Given the description of an element on the screen output the (x, y) to click on. 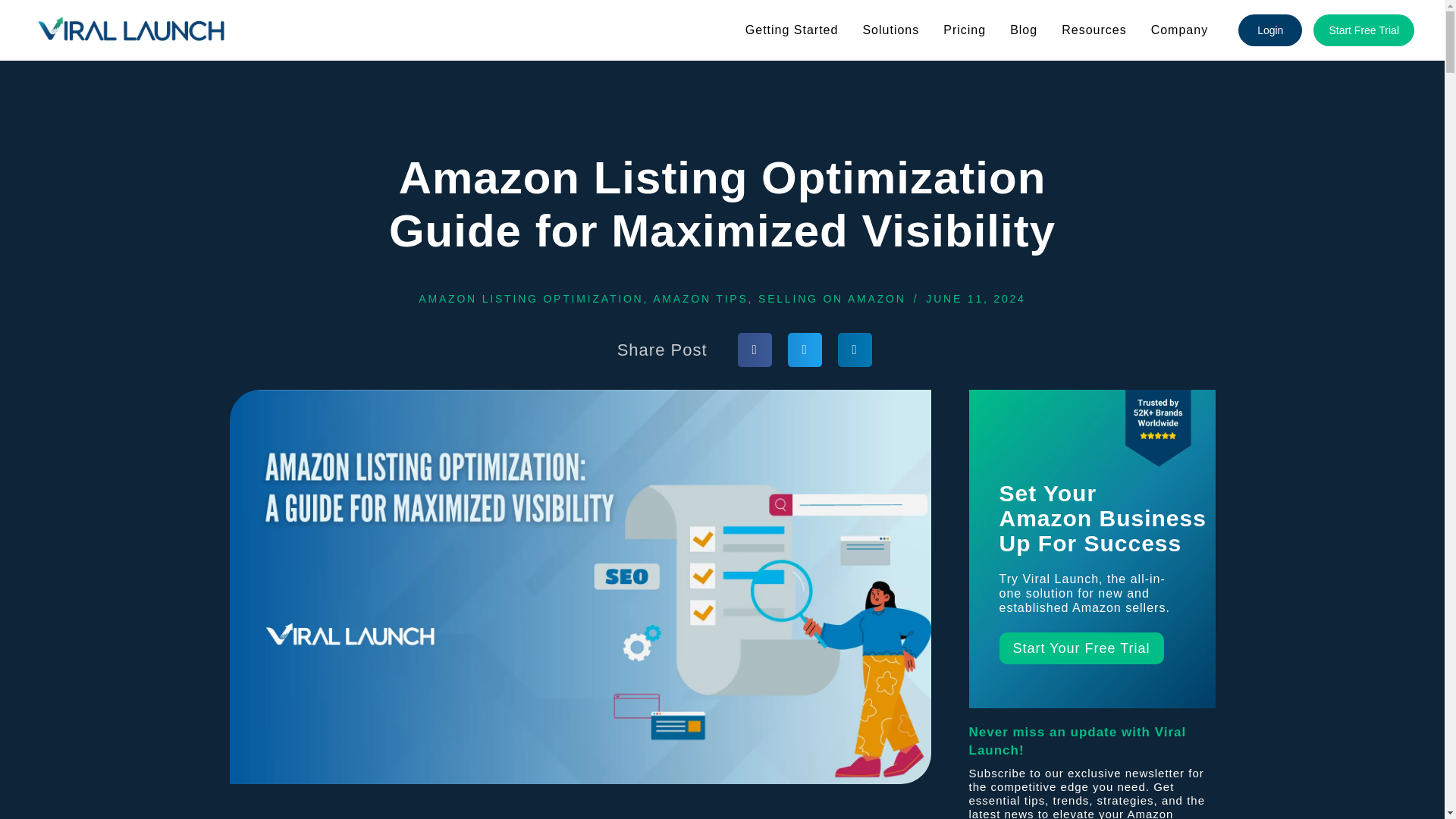
Getting Started (791, 30)
Solutions (890, 30)
